Given the description of an element on the screen output the (x, y) to click on. 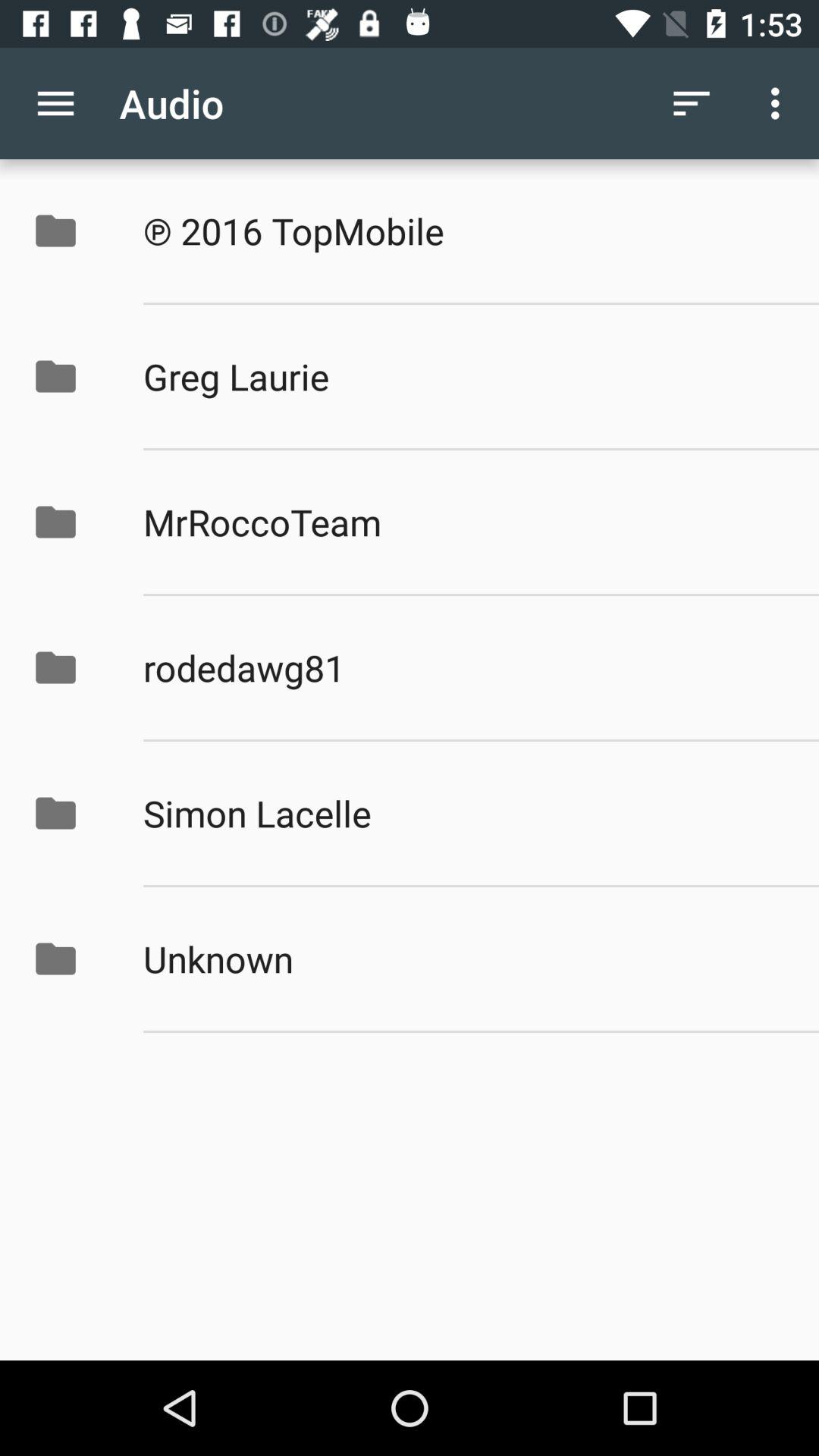
click icon to the left of the audio (55, 103)
